Given the description of an element on the screen output the (x, y) to click on. 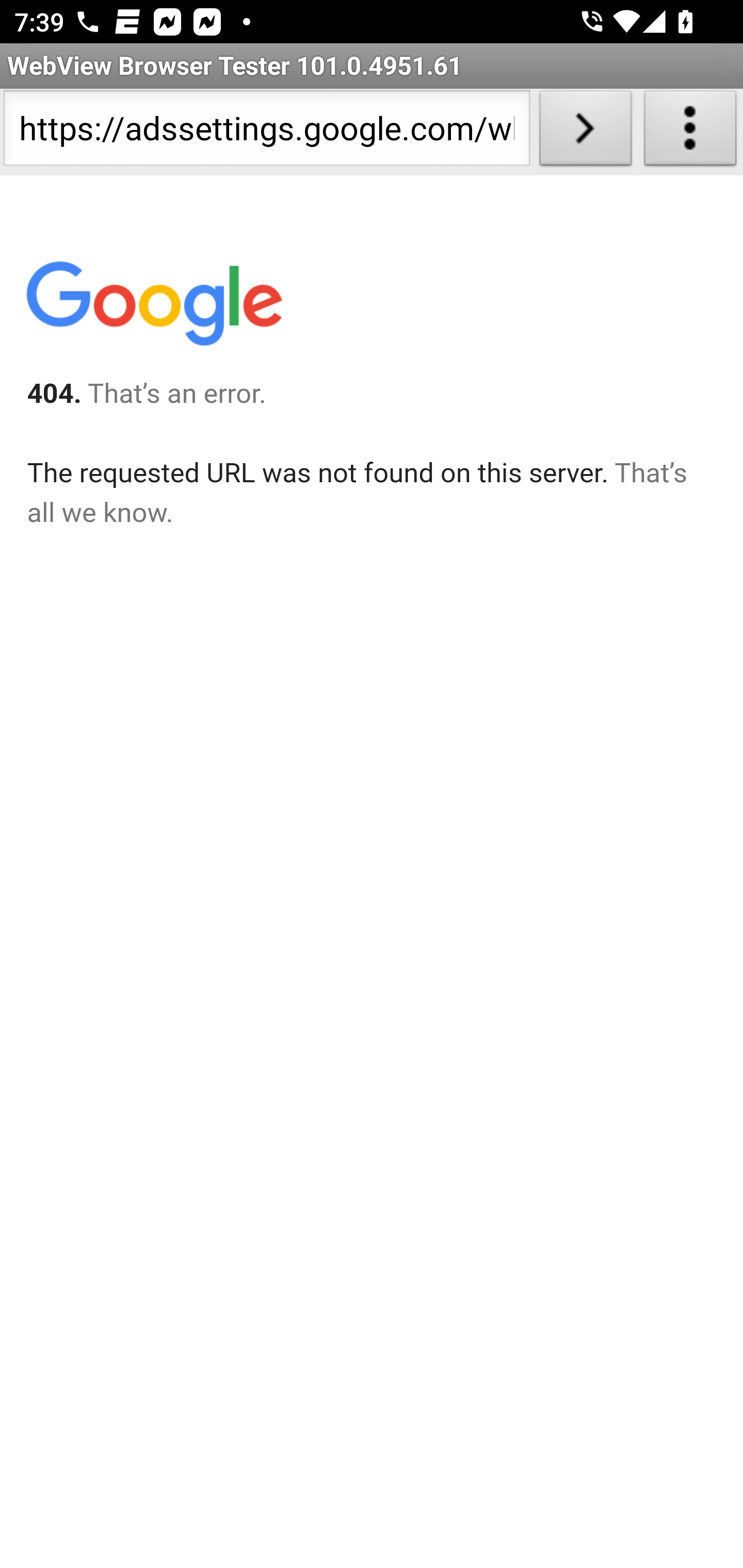
Load URL (585, 132)
About WebView (690, 132)
Google (153, 307)
